Given the description of an element on the screen output the (x, y) to click on. 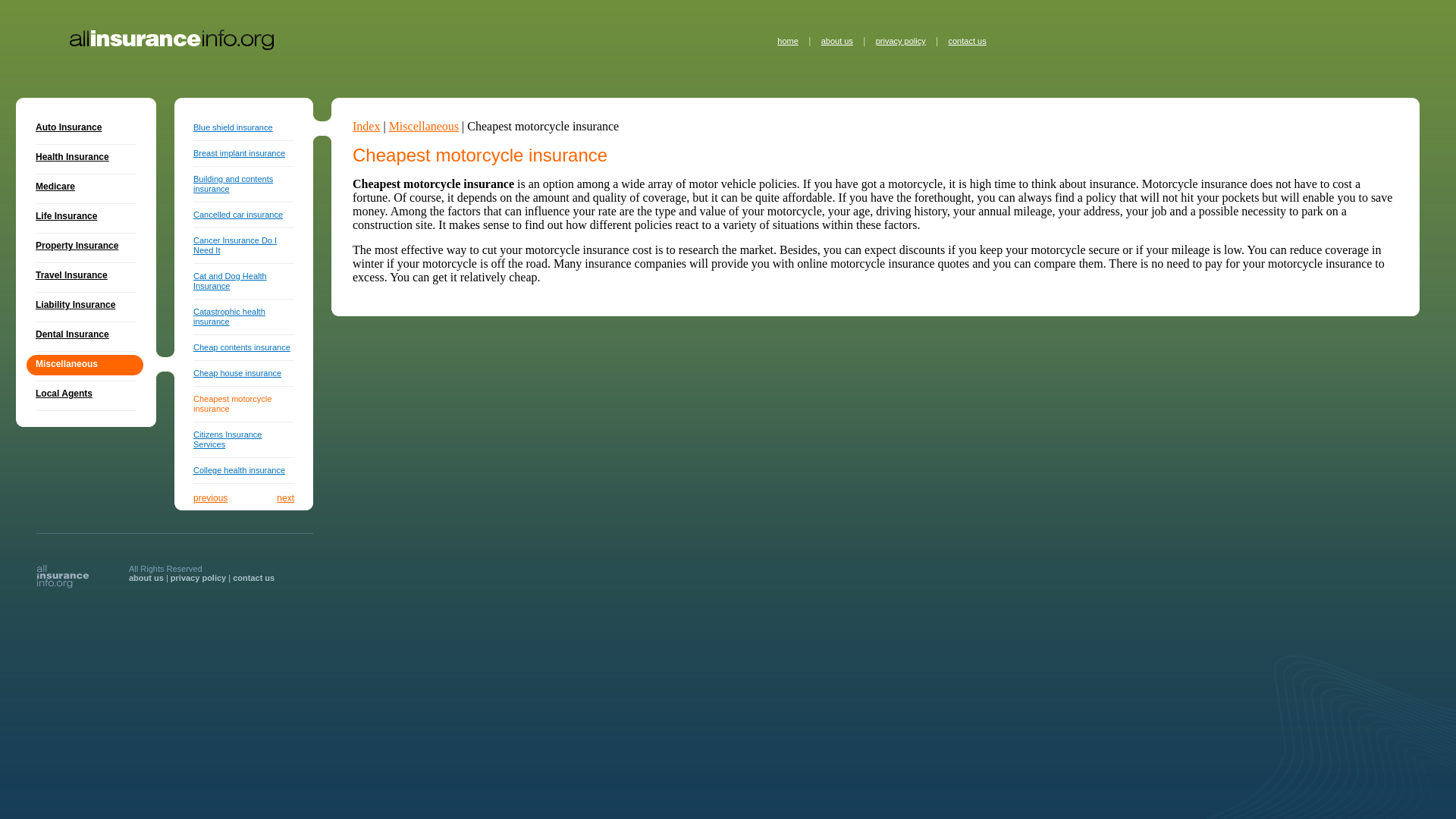
Cat and Dog Health Insurance (229, 280)
Cheap contents insurance (241, 347)
College health insurance (239, 470)
previous (210, 498)
Index (366, 125)
contact us (966, 40)
Dental Insurance (85, 335)
Cancer Insurance Do I Need It (234, 244)
about us (146, 577)
Auto Insurance (85, 127)
Citizens Insurance Services (227, 438)
home (787, 40)
Blue shield insurance (233, 126)
Health Insurance (85, 158)
privacy policy (197, 577)
